Given the description of an element on the screen output the (x, y) to click on. 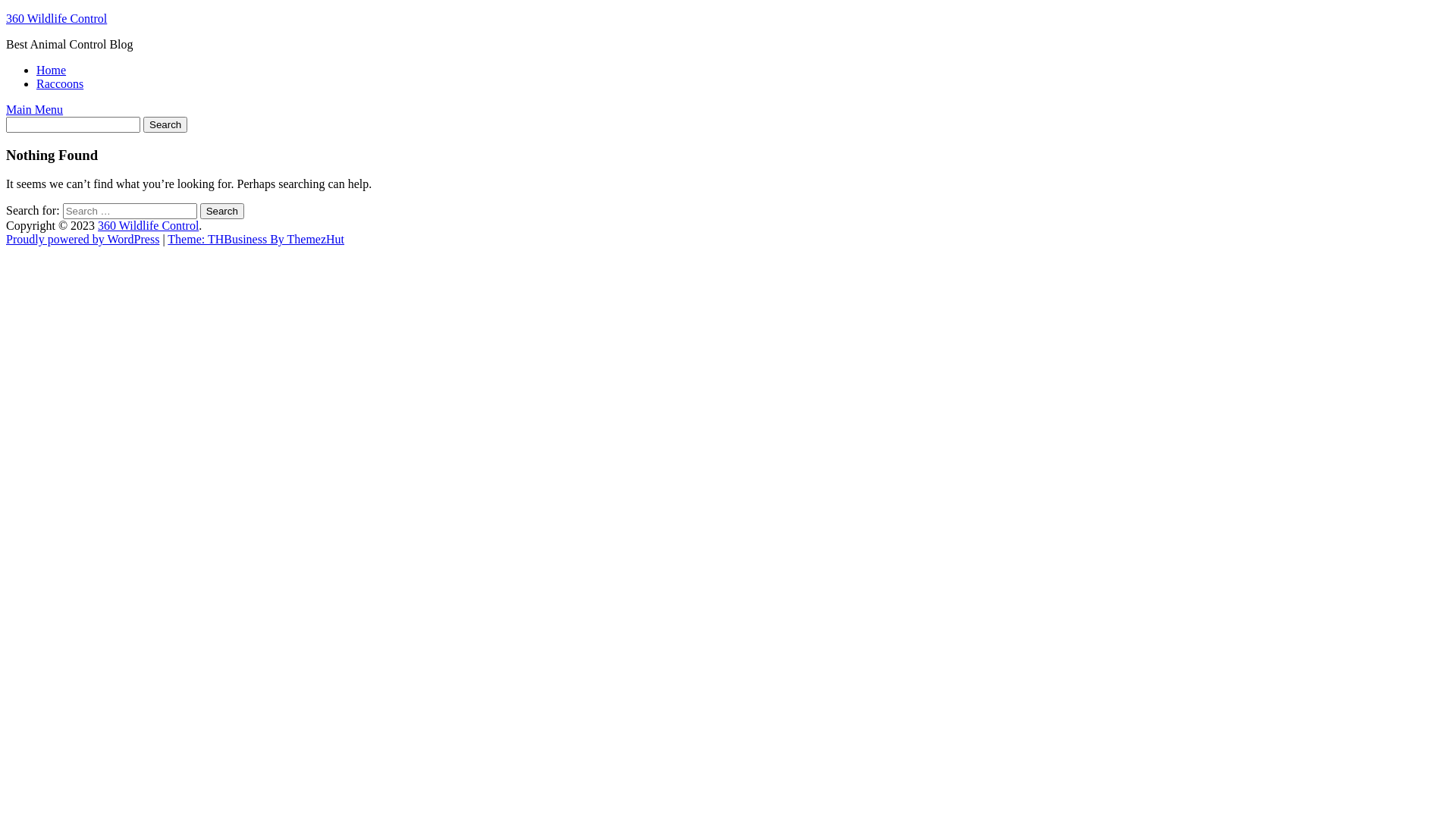
Search Element type: text (222, 211)
360 Wildlife Control Element type: text (147, 225)
Home Element type: text (50, 69)
Search Element type: text (165, 124)
Main Menu Element type: text (34, 109)
Proudly powered by WordPress Element type: text (82, 238)
360 Wildlife Control Element type: text (56, 18)
Raccoons Element type: text (59, 83)
Theme: THBusiness By ThemezHut Element type: text (255, 238)
